Given the description of an element on the screen output the (x, y) to click on. 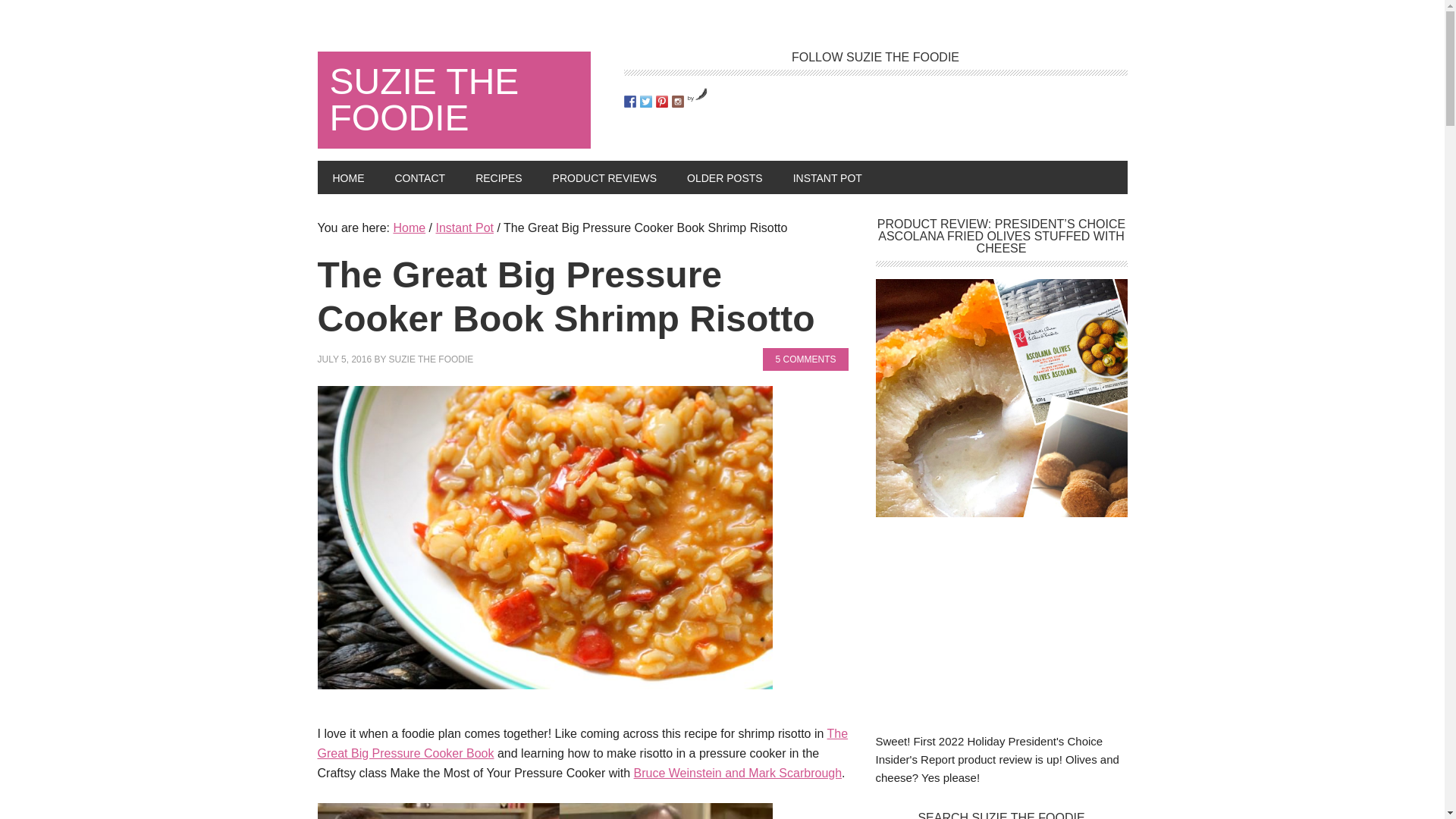
RECIPES (498, 177)
Follow me on Pinterest (660, 101)
The Great Big Pressure Cooker Book (582, 743)
Follow me on Twitter (646, 101)
by (697, 98)
OLDER POSTS (724, 177)
Home (409, 227)
SUZIE THE FOODIE (431, 358)
5 COMMENTS (804, 359)
Bruce Weinstein and Mark Scarbrough (738, 772)
